Given the description of an element on the screen output the (x, y) to click on. 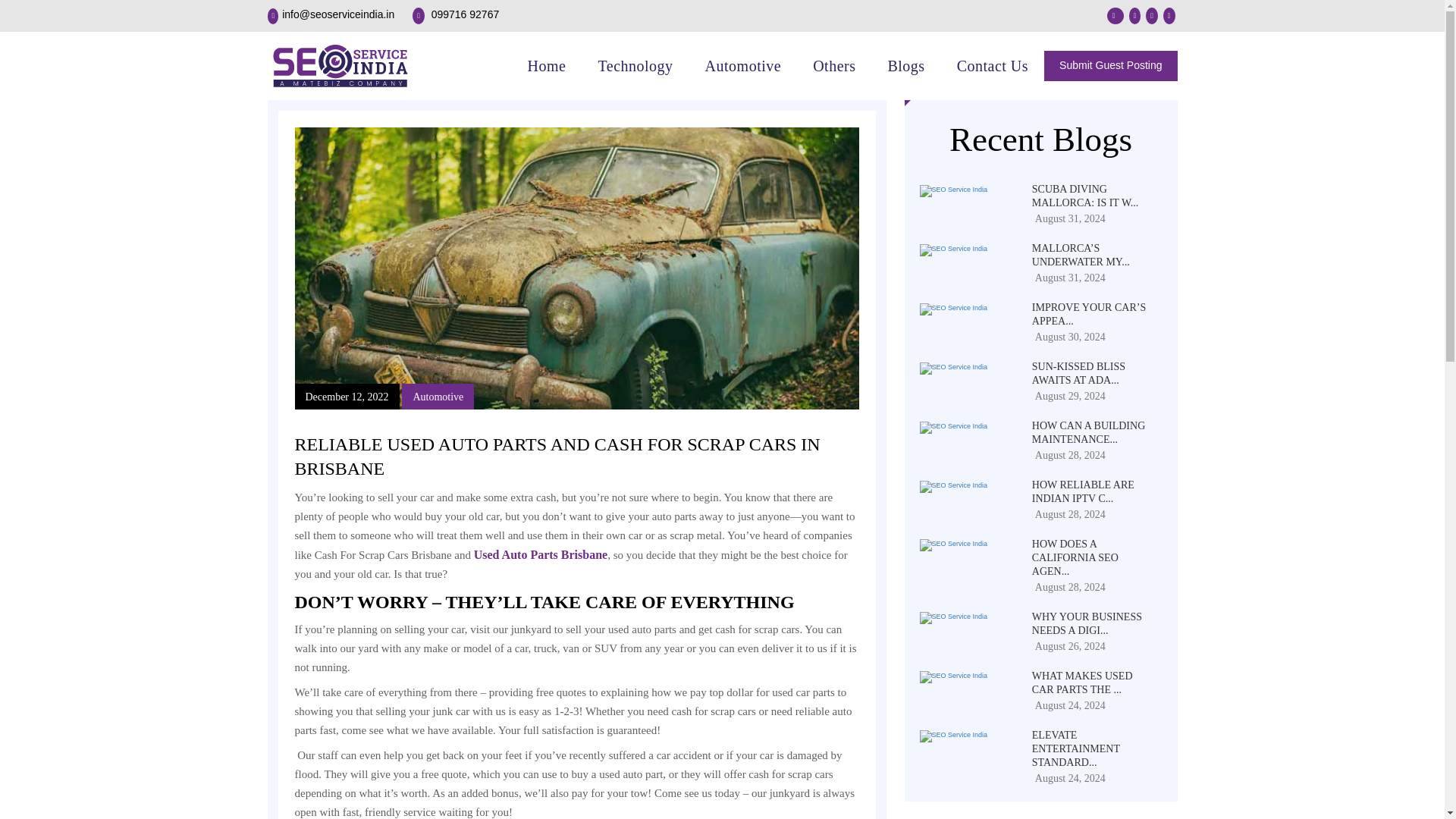
Submit Guest Posting (1038, 426)
Others (1109, 65)
Blogs (1038, 735)
Automotive (833, 65)
Contact Us (1038, 616)
